Given the description of an element on the screen output the (x, y) to click on. 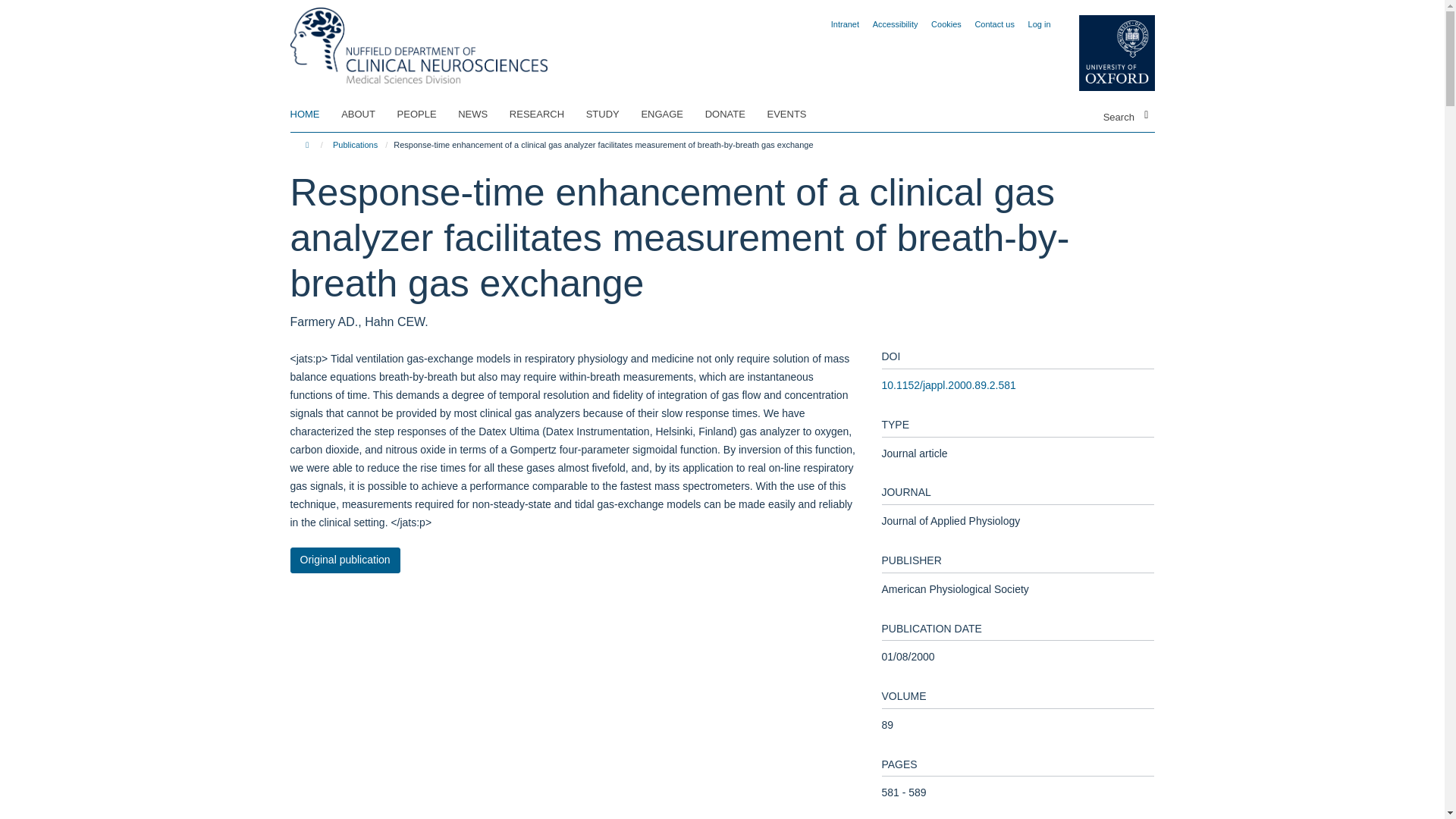
Original publication (343, 560)
HOME (313, 114)
ABOUT (367, 114)
NEWS (482, 114)
RESEARCH (546, 114)
Contact us (994, 23)
Nuffield Department of Clinical Neurosciences (418, 40)
DONATE (734, 114)
Home (309, 144)
Cookies (945, 23)
